Given the description of an element on the screen output the (x, y) to click on. 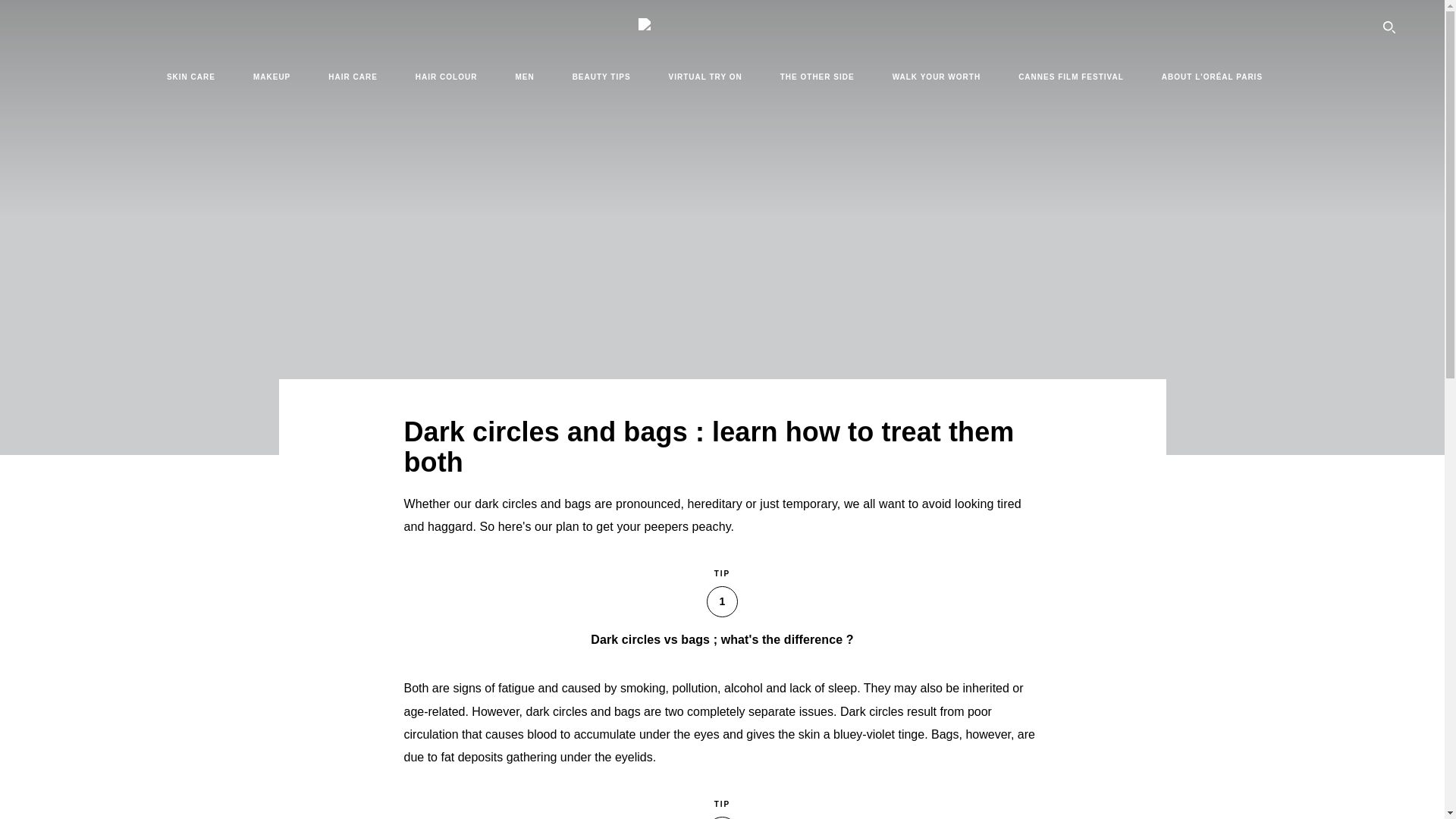
MAKEUP (271, 76)
SKIN CARE (191, 76)
